Given the description of an element on the screen output the (x, y) to click on. 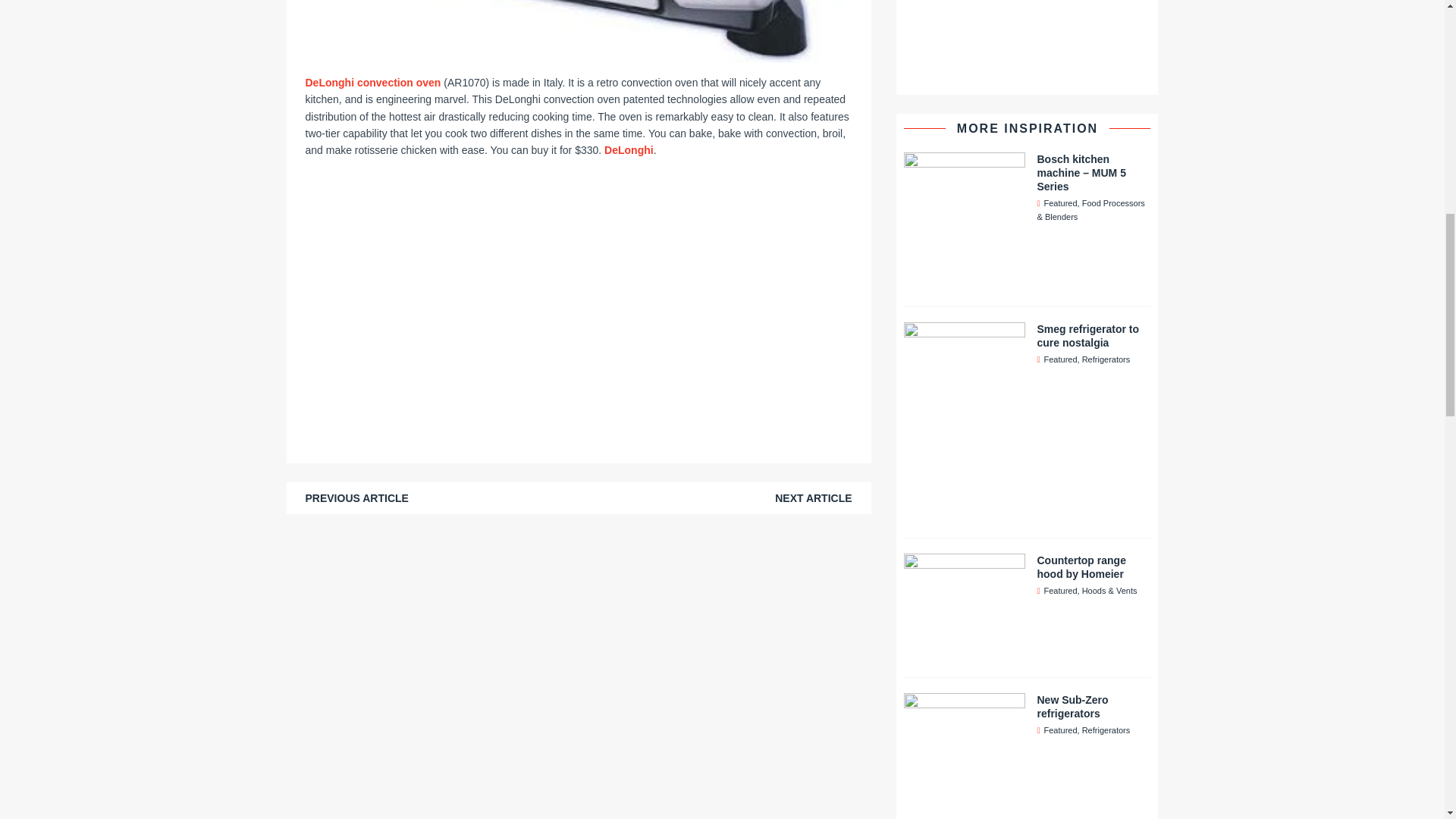
Smeg refrigerator to cure nostalgia (1087, 335)
Countertop range hood by Homeier (964, 653)
Smeg refrigerator to cure nostalgia (964, 512)
New Sub-Zero refrigerators (1072, 706)
Countertop range hood by Homeier (1080, 566)
